Given the description of an element on the screen output the (x, y) to click on. 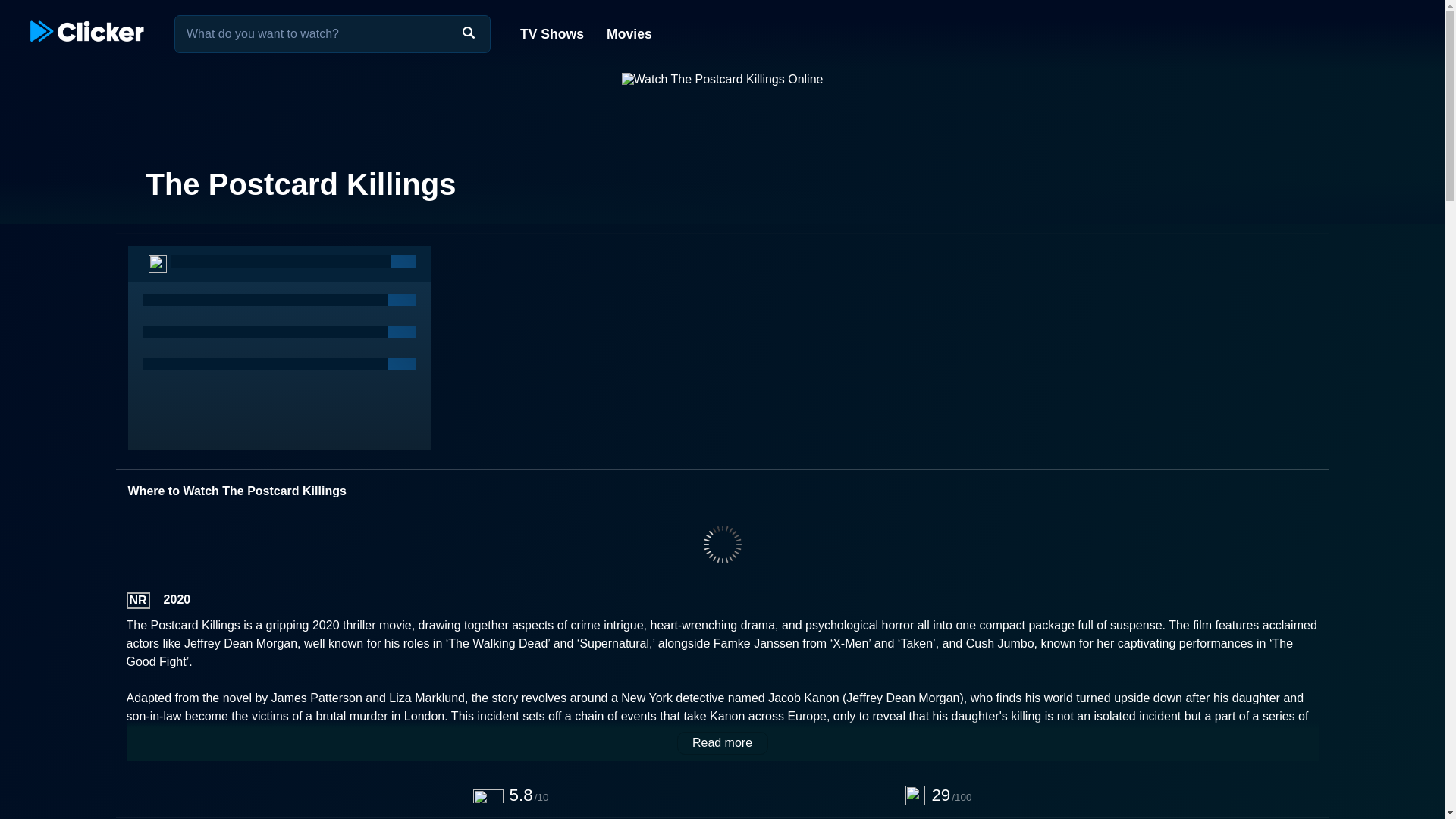
Read more (722, 743)
Movies (628, 33)
TV Shows (551, 33)
